Given the description of an element on the screen output the (x, y) to click on. 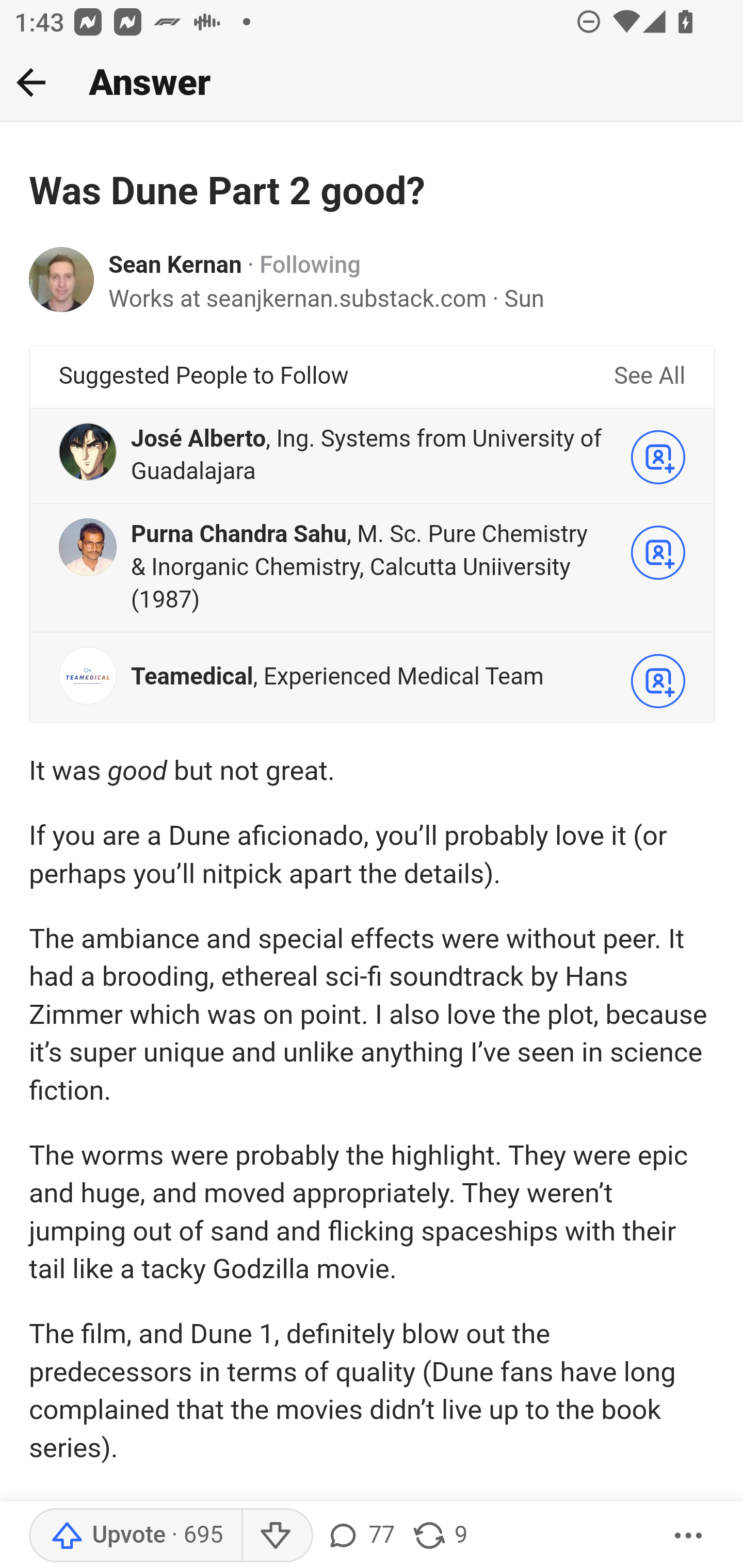
Back Answer (371, 82)
Back (30, 82)
Was Dune Part 2 good? (227, 191)
Profile photo for Sean Kernan (61, 279)
Sean Kernan (175, 265)
Following (309, 265)
Sun (524, 299)
See All (649, 376)
Profile photo for José Alberto (87, 451)
José Alberto (198, 439)
Follow José Alberto (658, 456)
Profile photo for Purna Chandra Sahu (87, 547)
Purna Chandra Sahu (239, 535)
Follow Purna Chandra Sahu (658, 551)
Profile photo for Teamedical (87, 675)
Follow Teamedical (658, 680)
Teamedical (192, 678)
Upvote (135, 1535)
Downvote (277, 1535)
77 comments (360, 1535)
9 shares (439, 1535)
More (688, 1535)
